Given the description of an element on the screen output the (x, y) to click on. 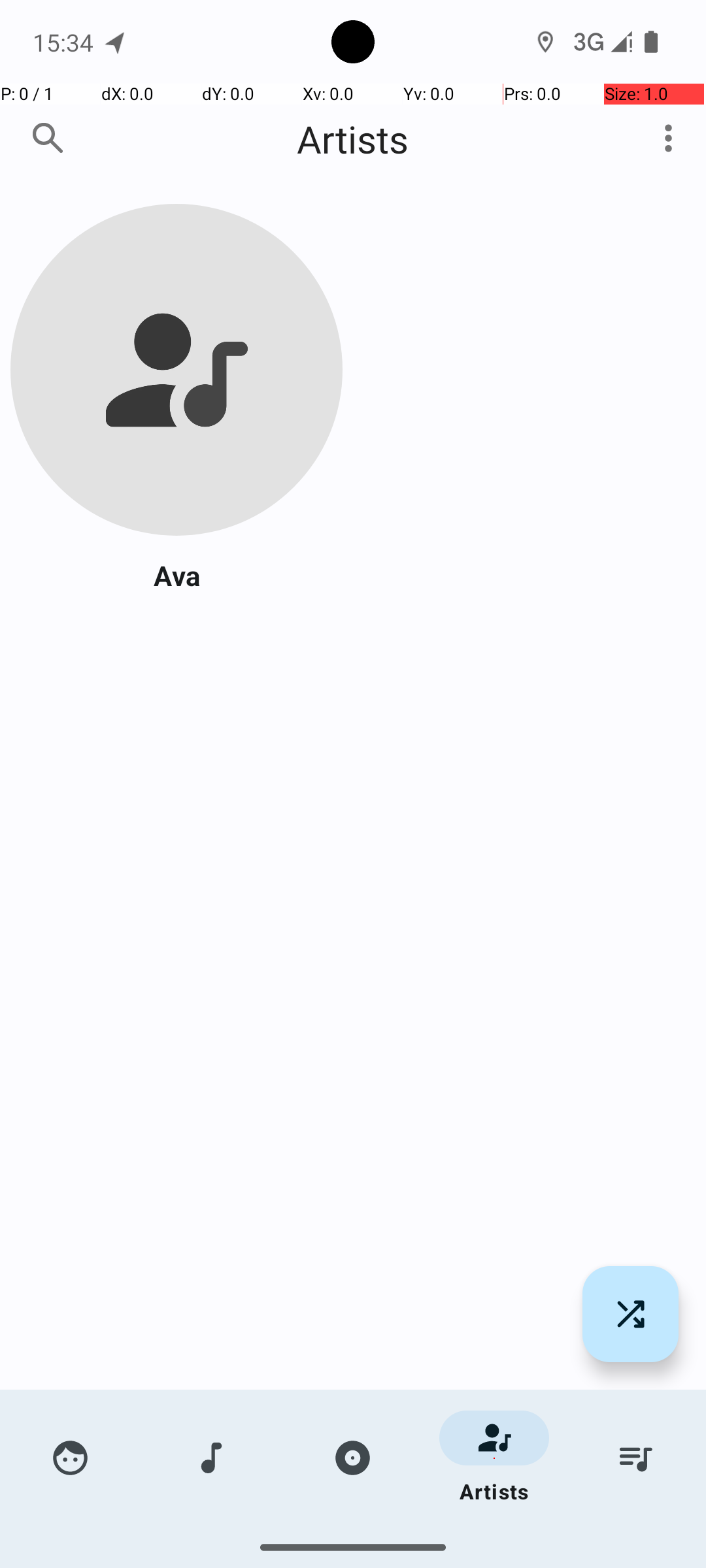
Ava Element type: android.widget.TextView (175, 574)
